Given the description of an element on the screen output the (x, y) to click on. 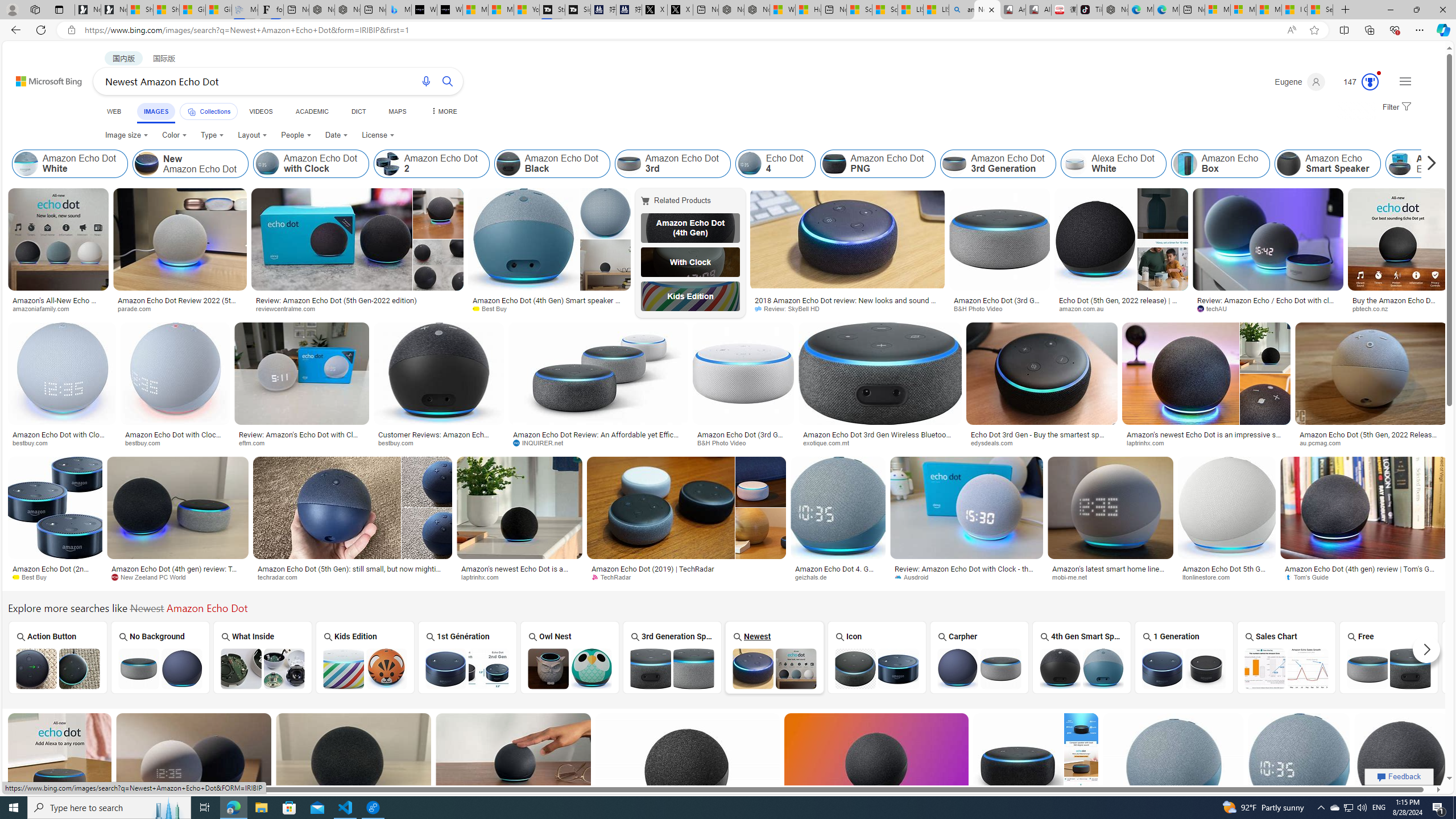
People (295, 135)
Image result for Newest Amazon Echo Dot (1401, 764)
reviewcentralme.com (357, 308)
Scroll right (1428, 163)
Amazon Echo Dot Kids Edition Kids Edition (364, 656)
Layout (252, 135)
DICT (357, 111)
edysdeals.com (995, 442)
bestbuy.com (399, 442)
Amazon Echo Dot (2019) | TechRadar (686, 568)
